Given the description of an element on the screen output the (x, y) to click on. 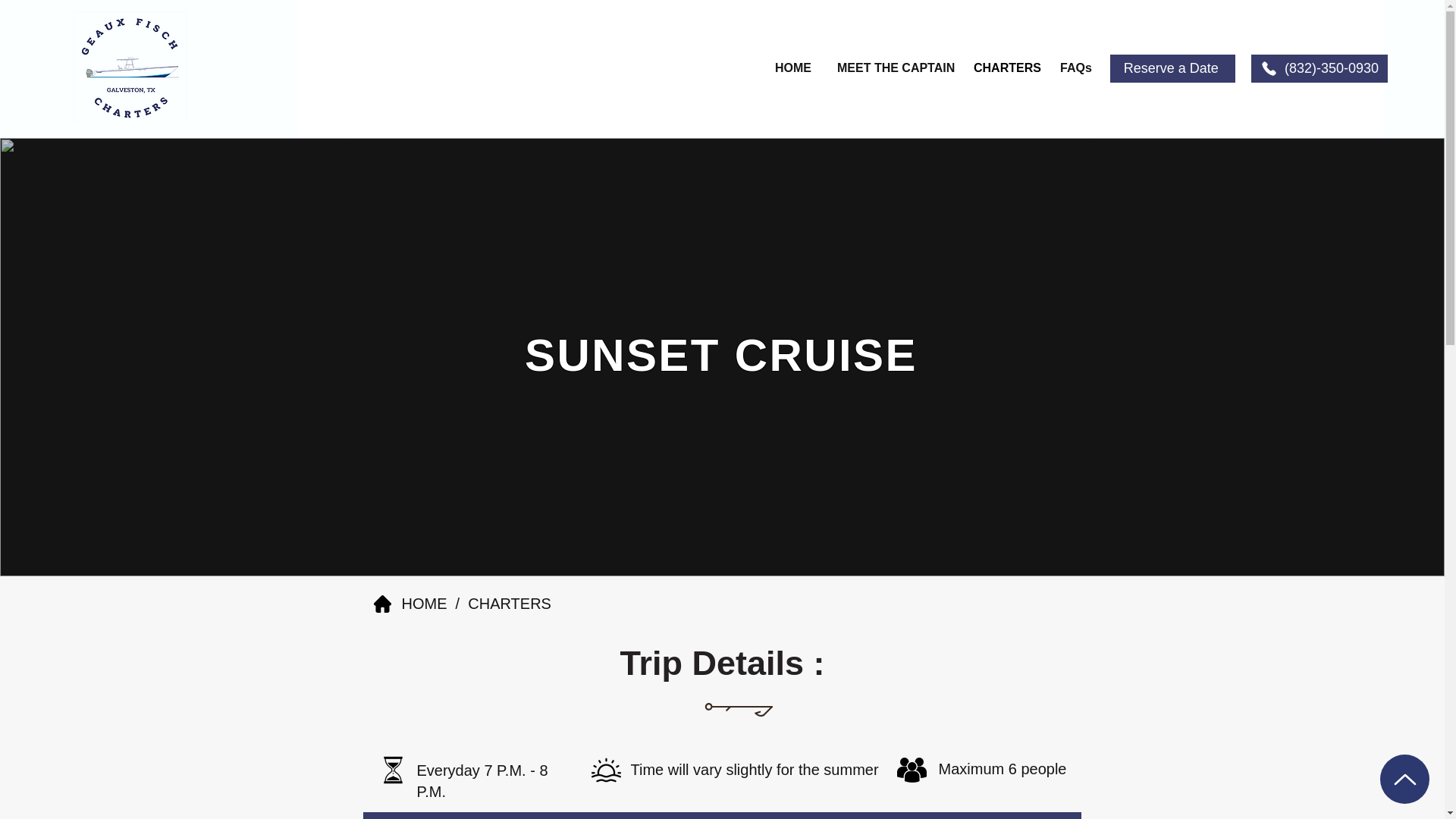
HOME (793, 67)
CHARTERS  (510, 603)
HOME (423, 603)
Reserve a Date (1172, 68)
MEET THE CAPTAIN (893, 67)
CHARTERS (1005, 67)
FAQs (1075, 67)
